Given the description of an element on the screen output the (x, y) to click on. 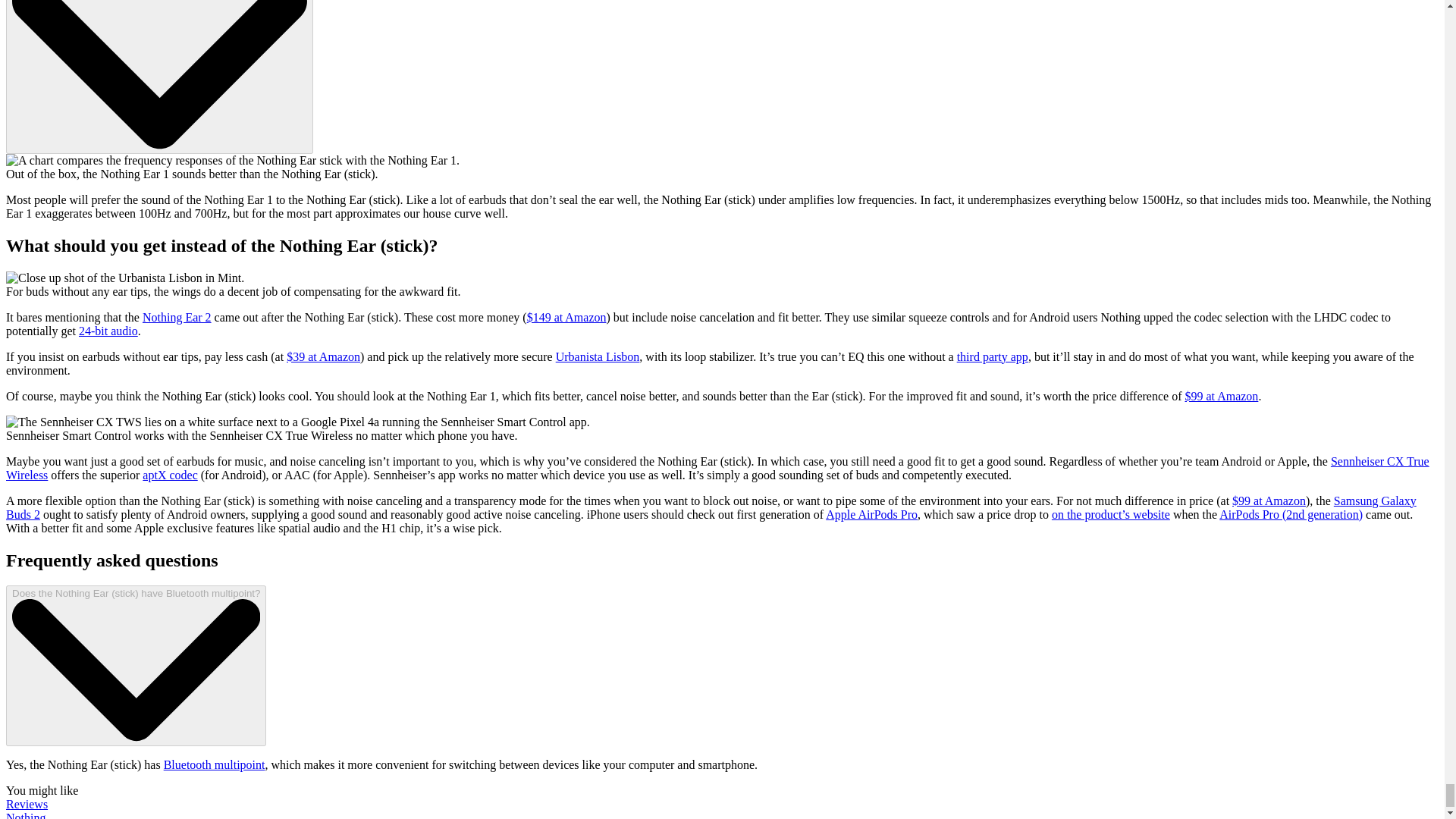
Sennheiser-CX-TWS-app-shot (297, 422)
urbanista-lisbon-buds-out-case-open (124, 278)
nothing-ear-stick-vs-nothing-ear-1-frequency-response (232, 160)
